Given the description of an element on the screen output the (x, y) to click on. 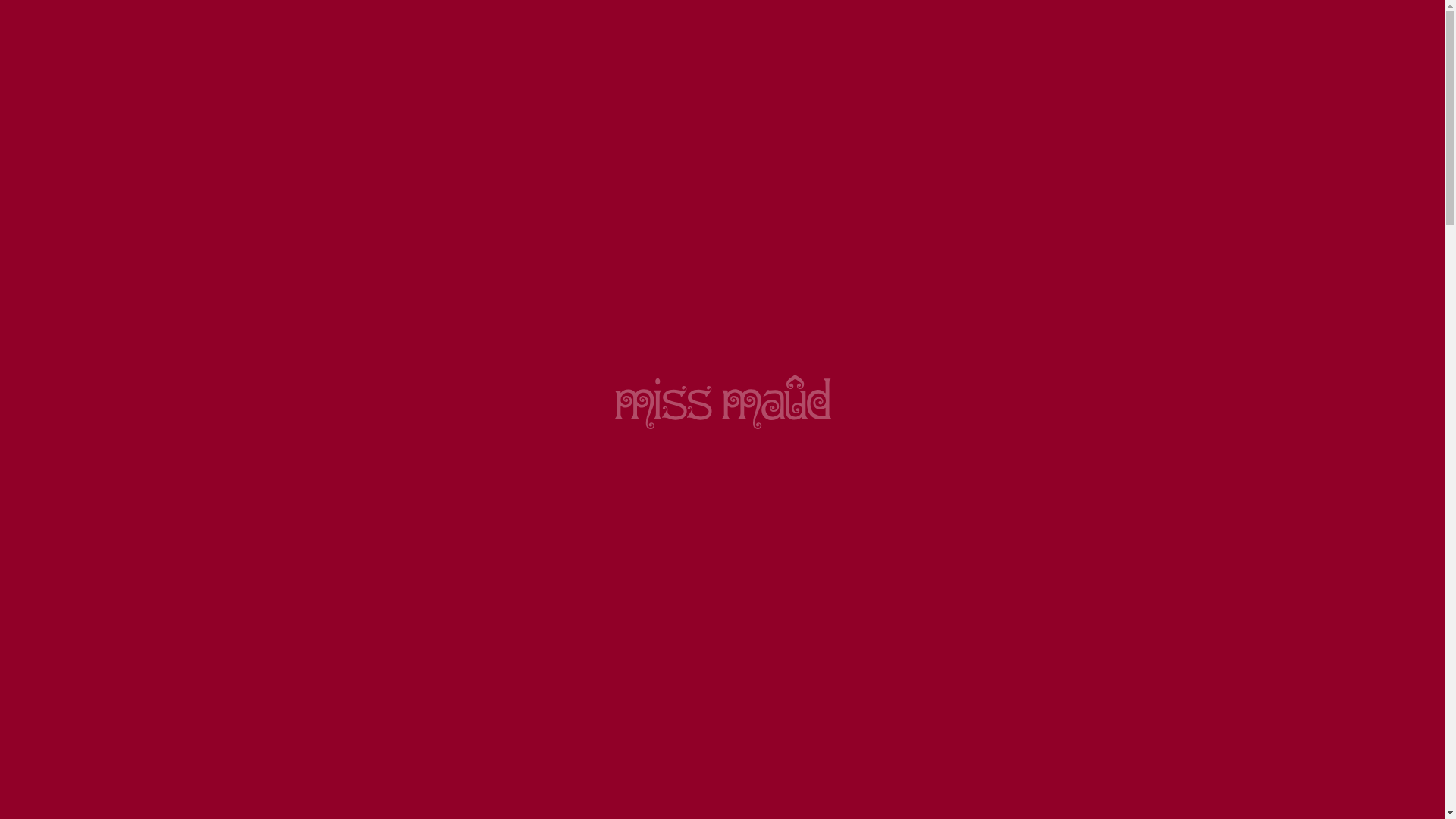
Search Element type: text (879, 91)
Login/Register Element type: text (1049, 90)
BACK TO LISTING Element type: text (722, 355)
COFFEE & TEA Element type: text (293, 222)
CHRISTMAS TREATS Element type: text (361, 173)
SAVOURY PIES & ROLLS Element type: text (972, 173)
CAKES & SWEETS Element type: text (649, 317)
HOME Element type: text (260, 173)
SPECIAL DIETARY Element type: text (594, 173)
CATERING Element type: text (482, 173)
HOME Element type: text (505, 317)
ONLINE SHOP Element type: text (564, 317)
CAKES & SWEETS Element type: text (726, 173)
SEE ALL PRODUCTS Element type: text (341, 269)
Previous Slide Element type: text (260, 17)
WHAT'S ON Element type: text (1124, 269)
INDIVIDUAL SWEETS Element type: text (749, 317)
STORE LOCATOR & OPENING HOURS Element type: text (629, 269)
Cart Element type: text (1163, 90)
Next Slide Element type: text (1185, 17)
DELIVERY COSTS Element type: text (911, 269)
ADD TO CART Element type: text (1050, 628)
GIFT IDEAS Element type: text (841, 173)
